Given the description of an element on the screen output the (x, y) to click on. 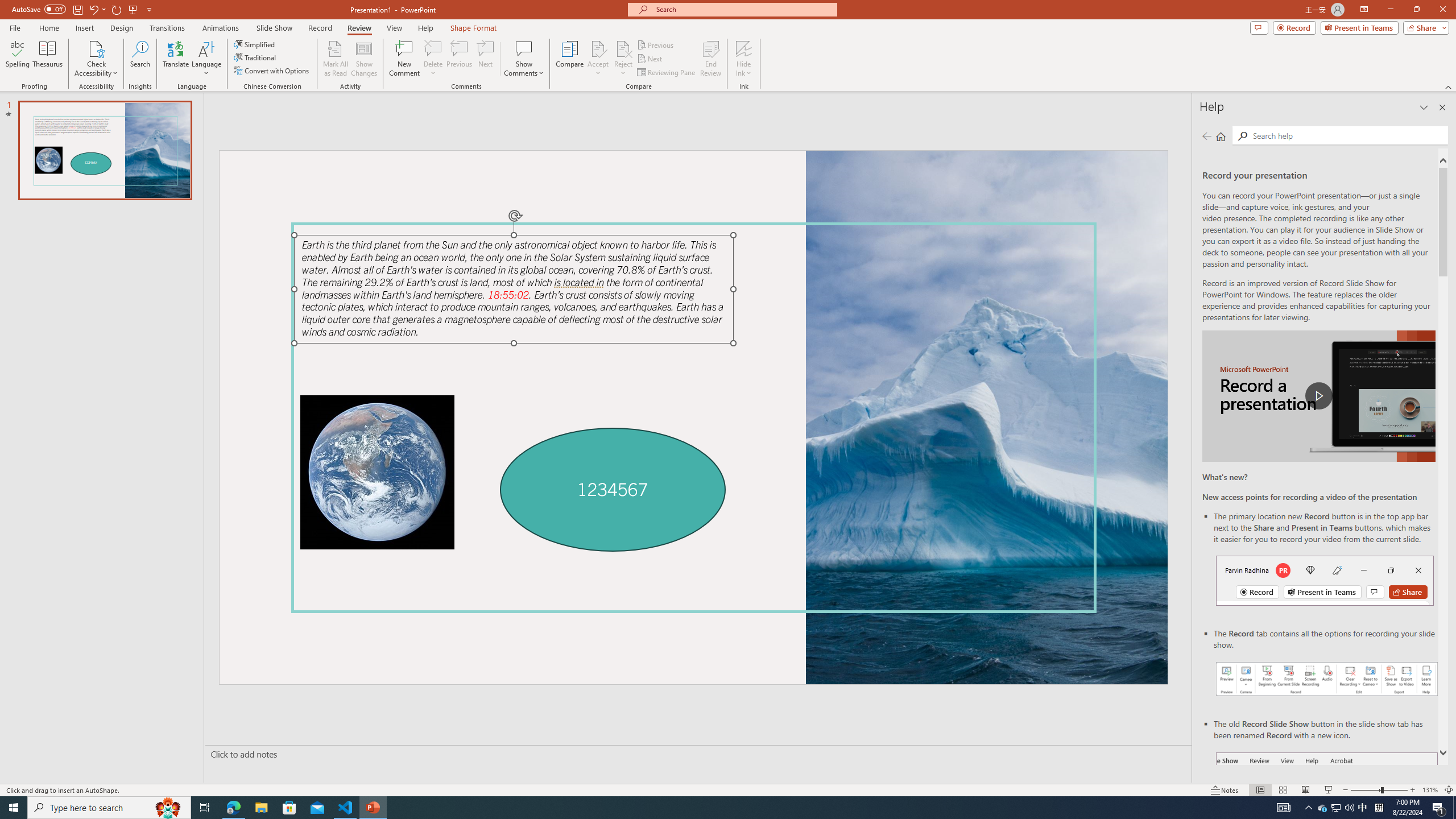
Language (206, 58)
Zoom 131% (1430, 790)
Reviewing Pane (666, 72)
play Record a Presentation (1318, 395)
Previous page (1206, 136)
Previous (655, 44)
